Given the description of an element on the screen output the (x, y) to click on. 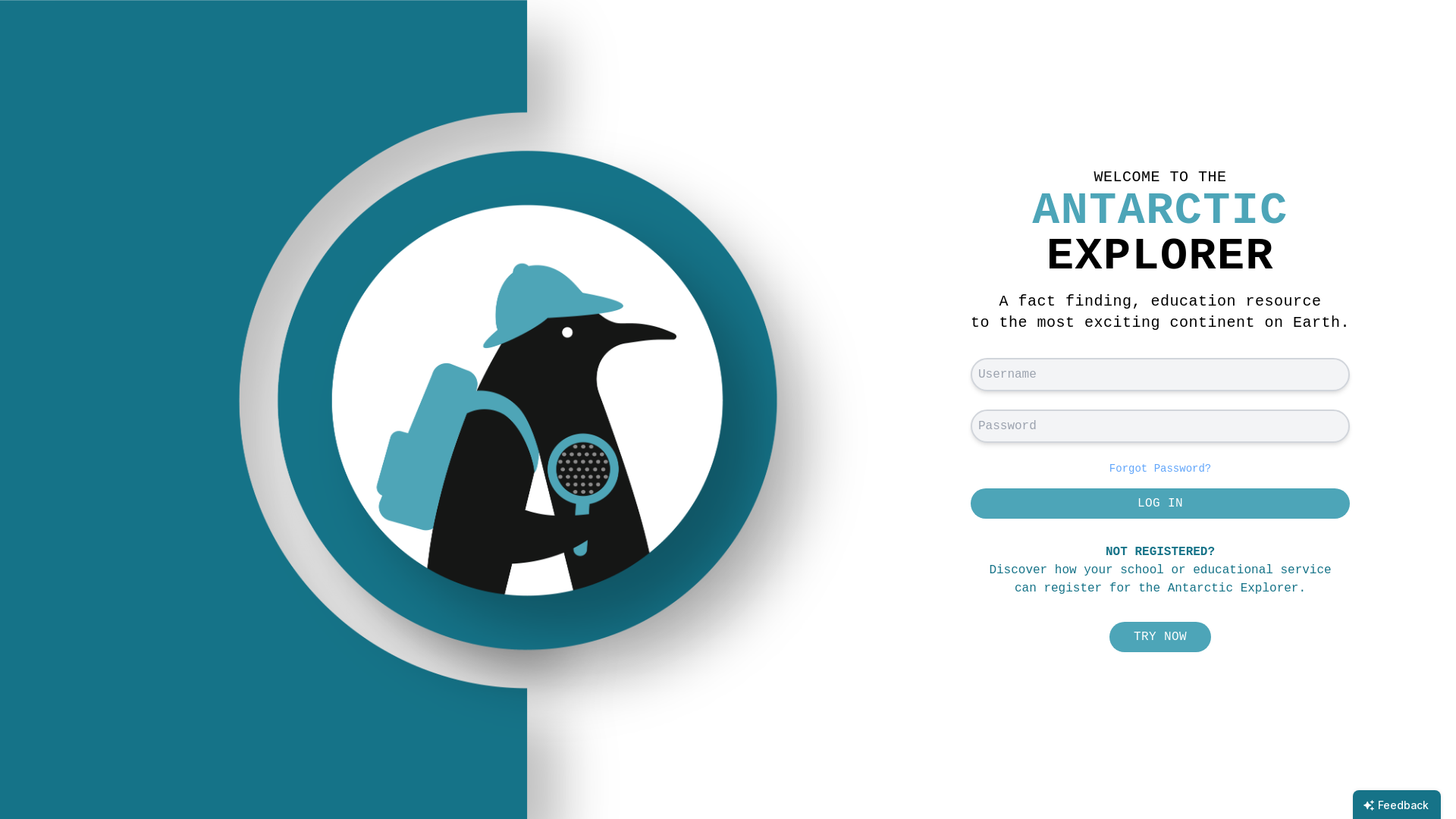
TRY NOW Element type: text (1160, 636)
LOG IN Element type: text (1159, 503)
Forgot Password? Element type: text (1159, 468)
TRY NOW Element type: text (1160, 636)
